Given the description of an element on the screen output the (x, y) to click on. 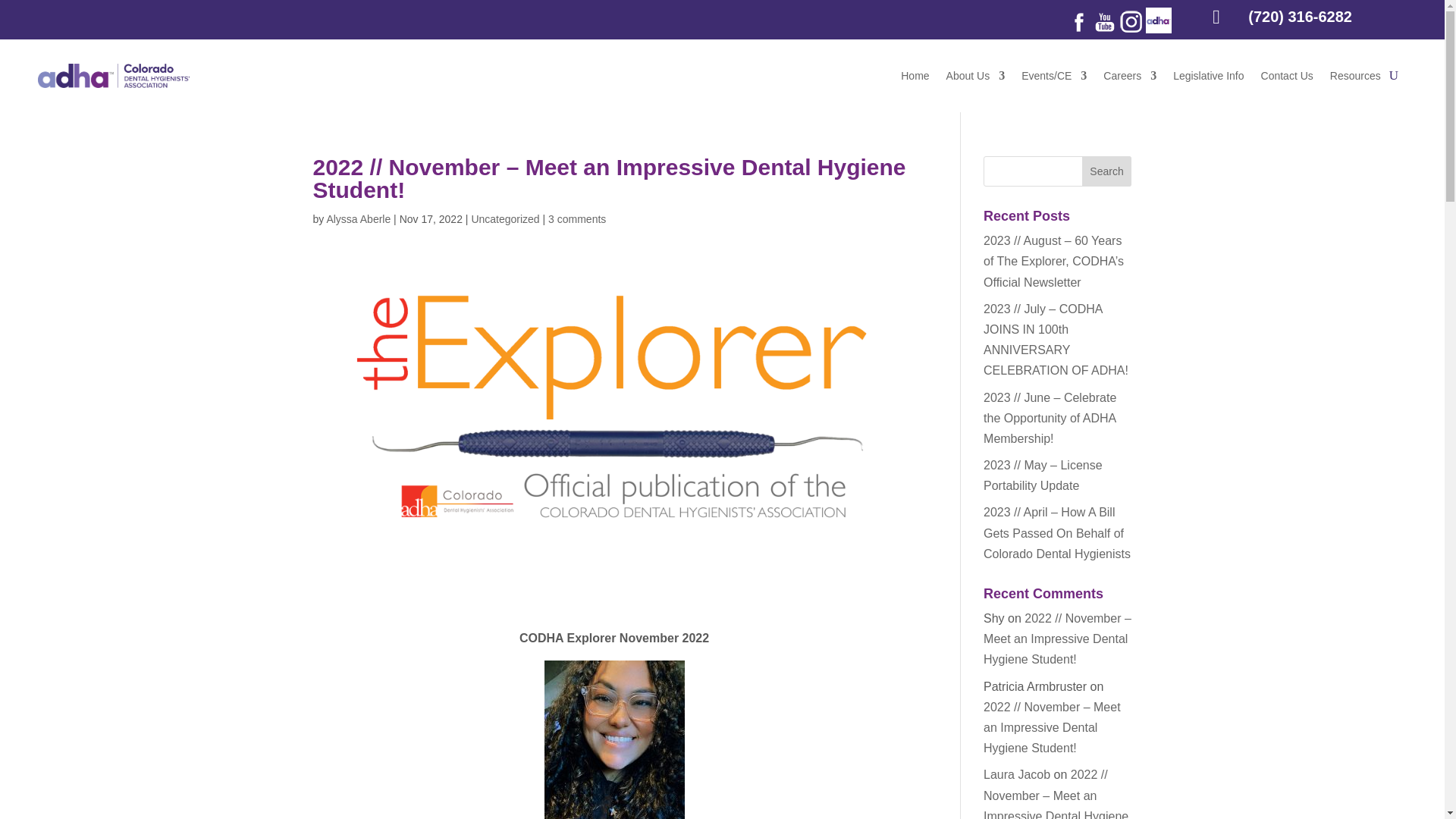
Search (1106, 171)
About Us (976, 75)
Careers (1129, 75)
Posts by Alyssa Aberle (358, 218)
Contact Us (1286, 75)
Legislative Info (1208, 75)
